Given the description of an element on the screen output the (x, y) to click on. 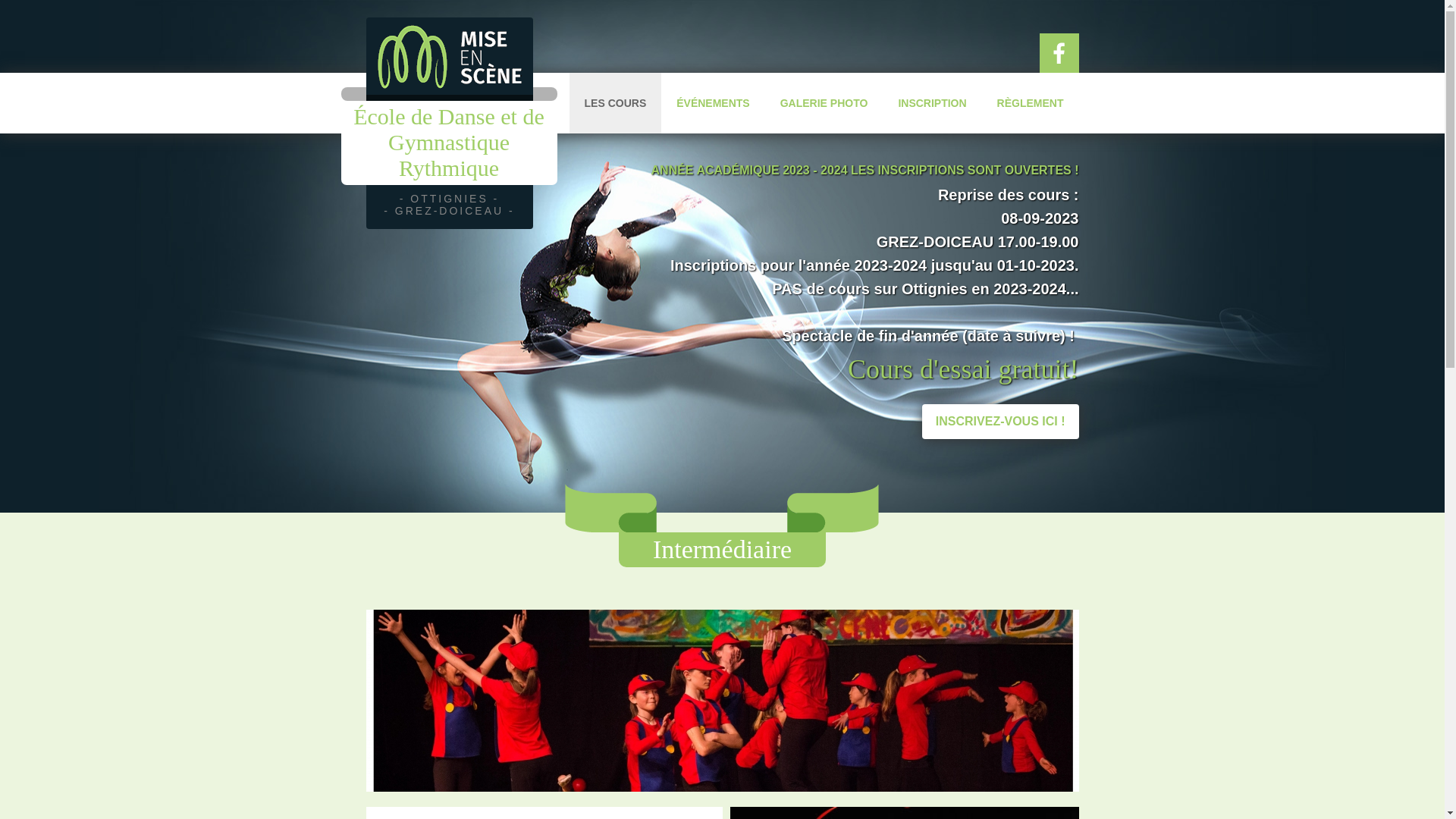
ACCUEIL Element type: text (529, 102)
GALERIE PHOTO Element type: text (824, 102)
INSCRIPTION Element type: text (931, 102)
INSCRIVEZ-VOUS ICI ! Element type: text (1000, 421)
